Given the description of an element on the screen output the (x, y) to click on. 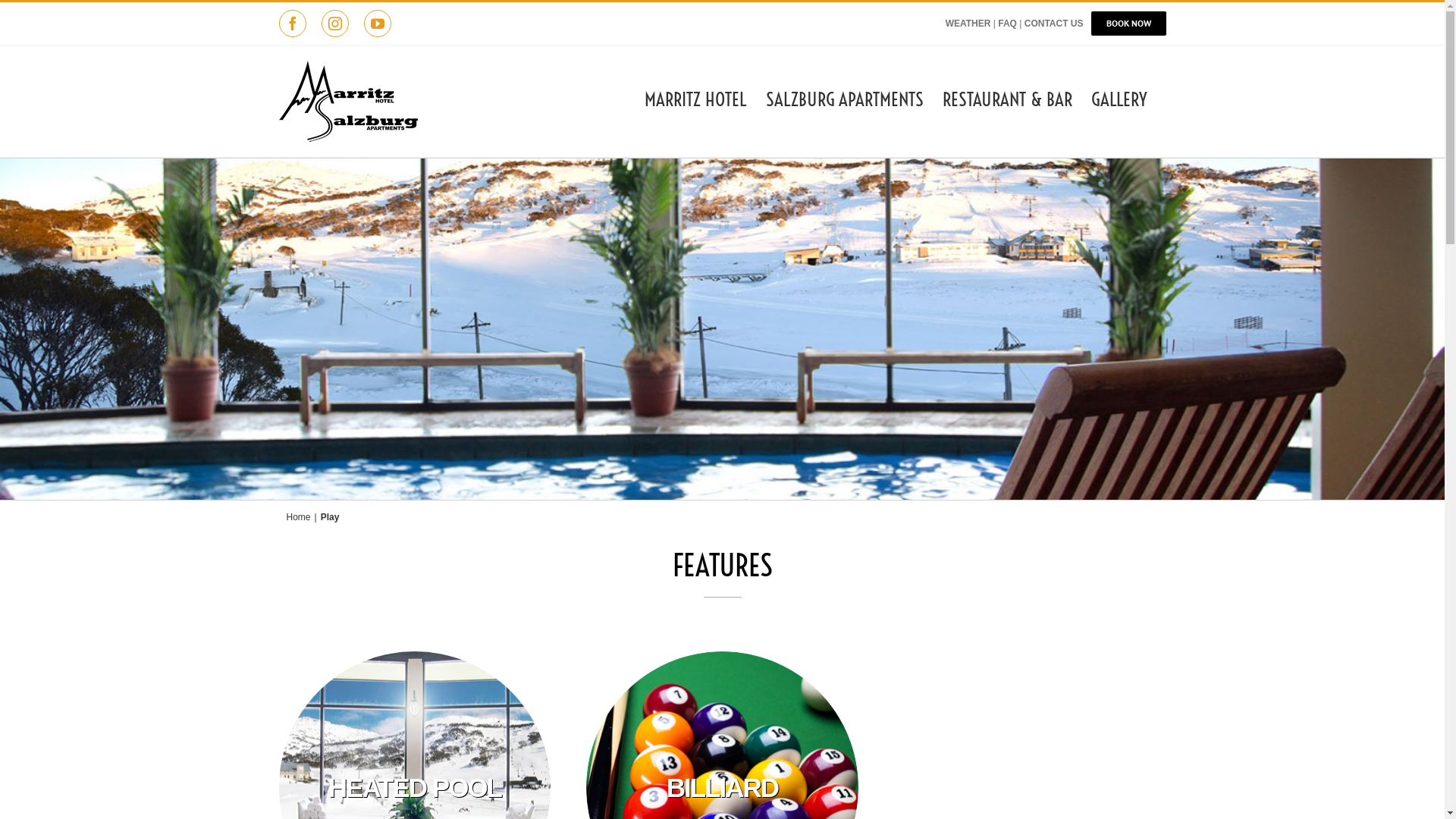
YouTube Element type: text (377, 23)
Home Element type: text (298, 516)
RESTAURANT & BAR Element type: text (1006, 98)
GALLERY Element type: text (1118, 98)
Instagram Element type: text (334, 23)
WEATHER Element type: text (968, 23)
Facebook Element type: text (292, 23)
CONTACT US Element type: text (1053, 23)
FAQ Element type: text (1006, 23)
BOOK NOW Element type: text (1128, 23)
MARRITZ HOTEL Element type: text (695, 98)
SALZBURG APARTMENTS Element type: text (844, 98)
